Given the description of an element on the screen output the (x, y) to click on. 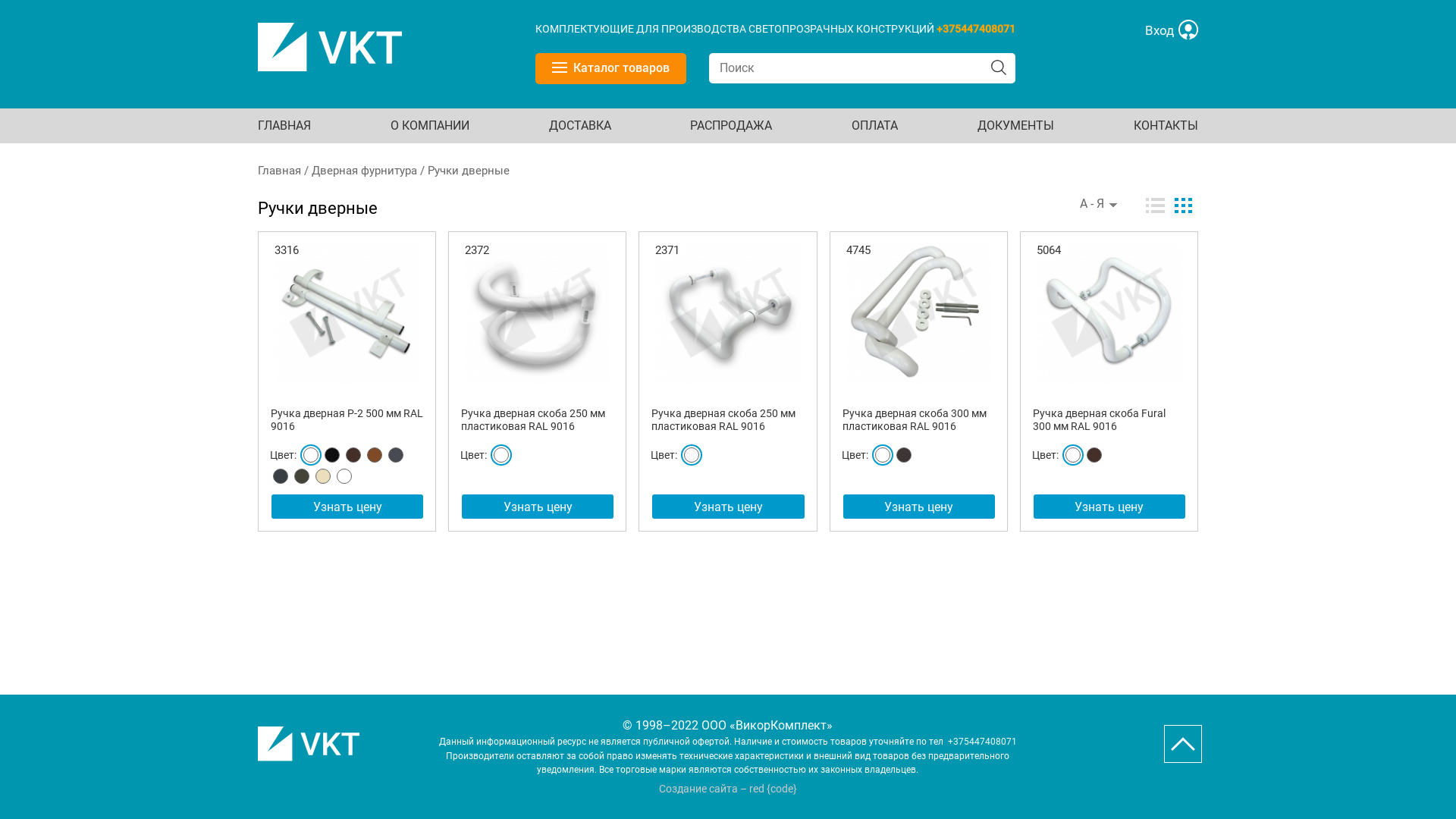
+375447408071 Element type: text (975, 28)
 +375447408071 Element type: text (980, 740)
